Given the description of an element on the screen output the (x, y) to click on. 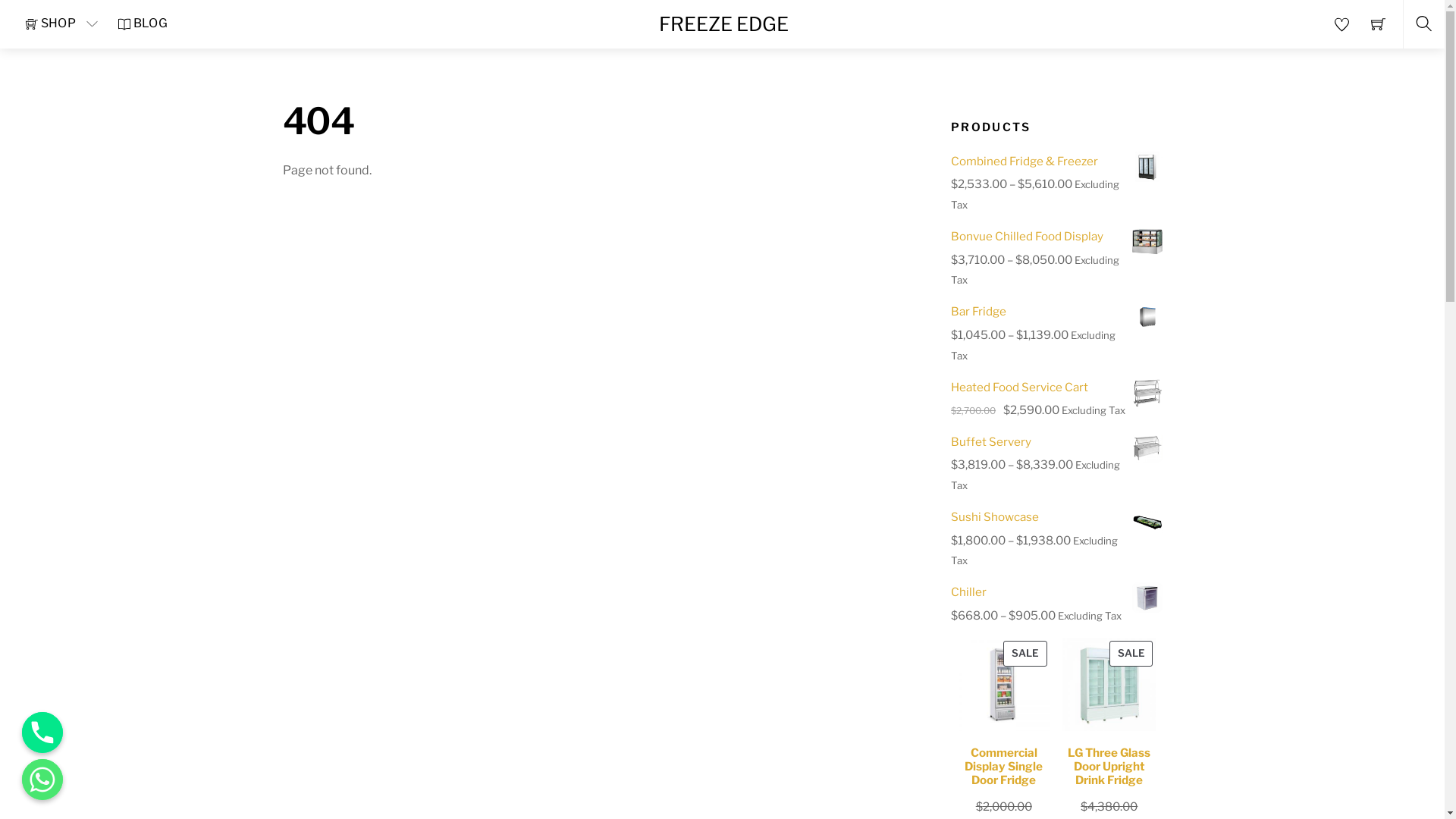
Sushi Showcase Element type: text (1055, 517)
SALE
Commercial Display Single Door Fridge Element type: text (1003, 717)
Chiller Element type: text (1055, 592)
Combined Fridge & Freezer Element type: text (1055, 161)
Bonvue Chilled Food Display Element type: text (1055, 236)
Buffet Servery Element type: text (1055, 441)
SALE
LG Three Glass Door Upright Drink Fridge Element type: text (1108, 717)
FREEZE EDGE Element type: text (722, 23)
Heated Food Service Cart Element type: text (1055, 387)
Bar Fridge Element type: text (1055, 311)
